Given the description of an element on the screen output the (x, y) to click on. 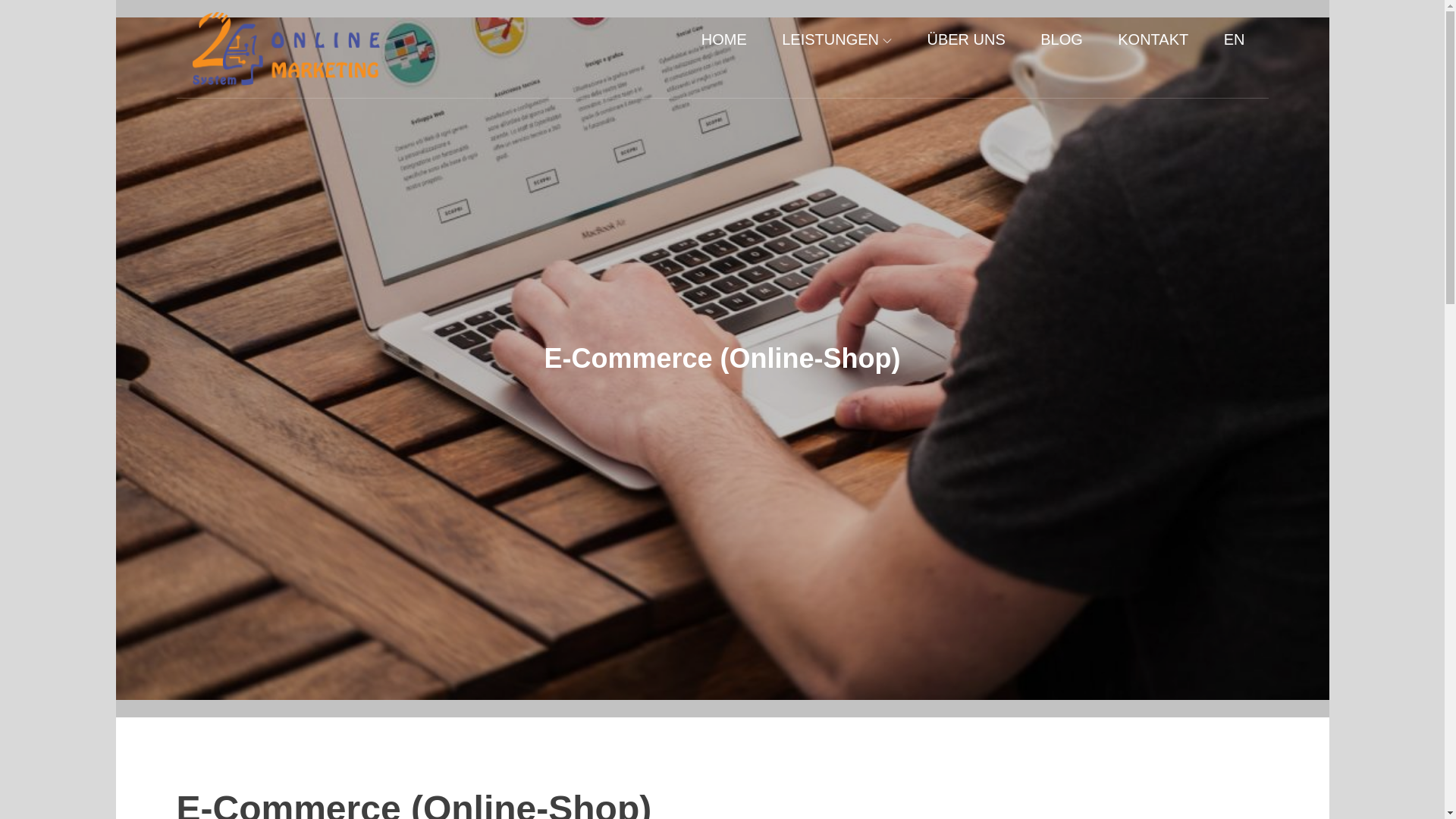
LEISTUNGEN Element type: text (836, 39)
Skip to content Element type: text (115, 0)
EN Element type: text (1234, 39)
24SYSTEM Element type: text (443, 63)
KONTAKT Element type: text (1152, 39)
BLOG Element type: text (1061, 39)
HOME Element type: text (723, 39)
